Given the description of an element on the screen output the (x, y) to click on. 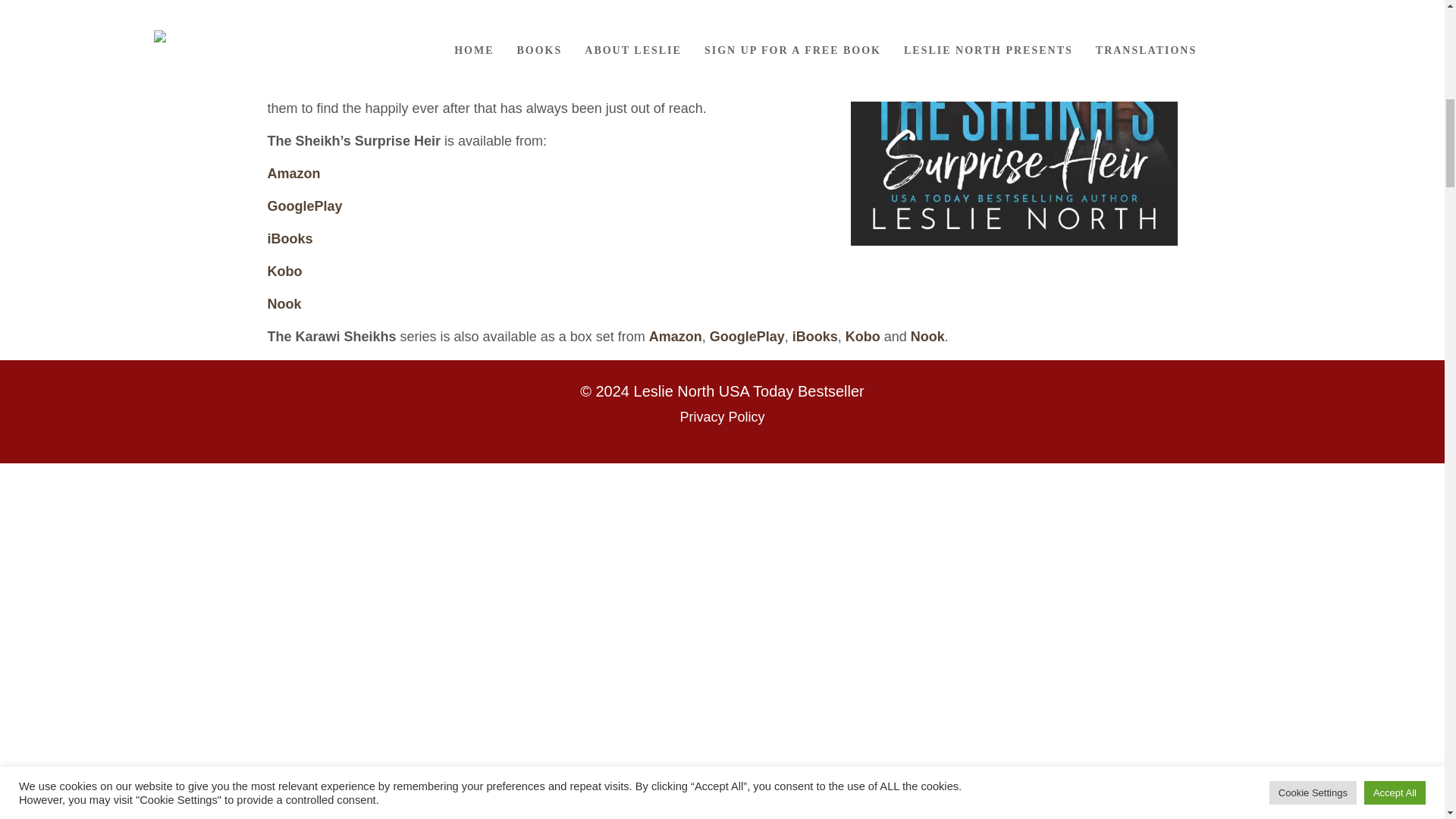
Privacy Policy (721, 417)
